Given the description of an element on the screen output the (x, y) to click on. 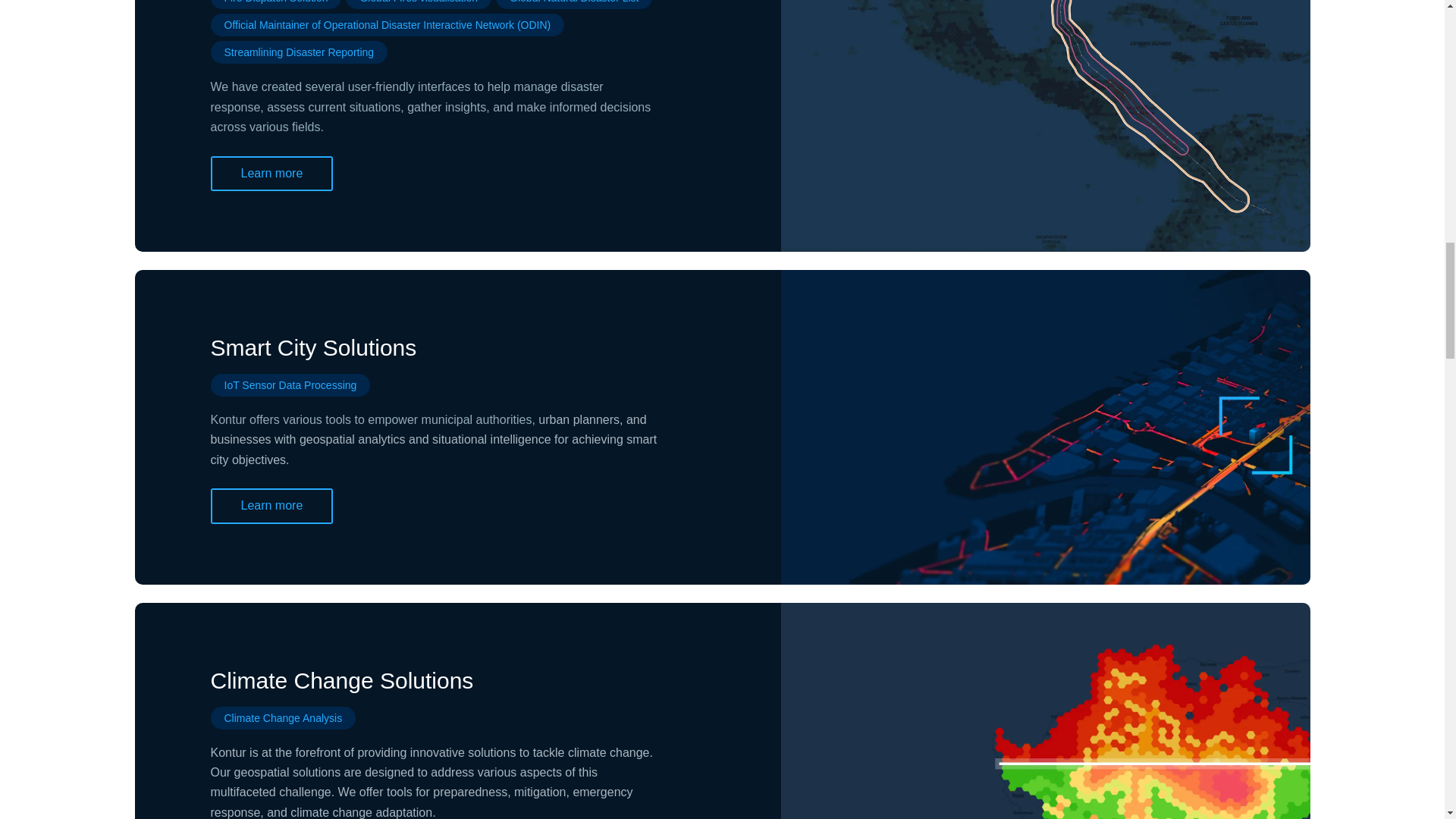
Global Natural Disaster List (574, 2)
Fire Dispatch Solution (276, 2)
Global Fires visualisation (418, 2)
